Given the description of an element on the screen output the (x, y) to click on. 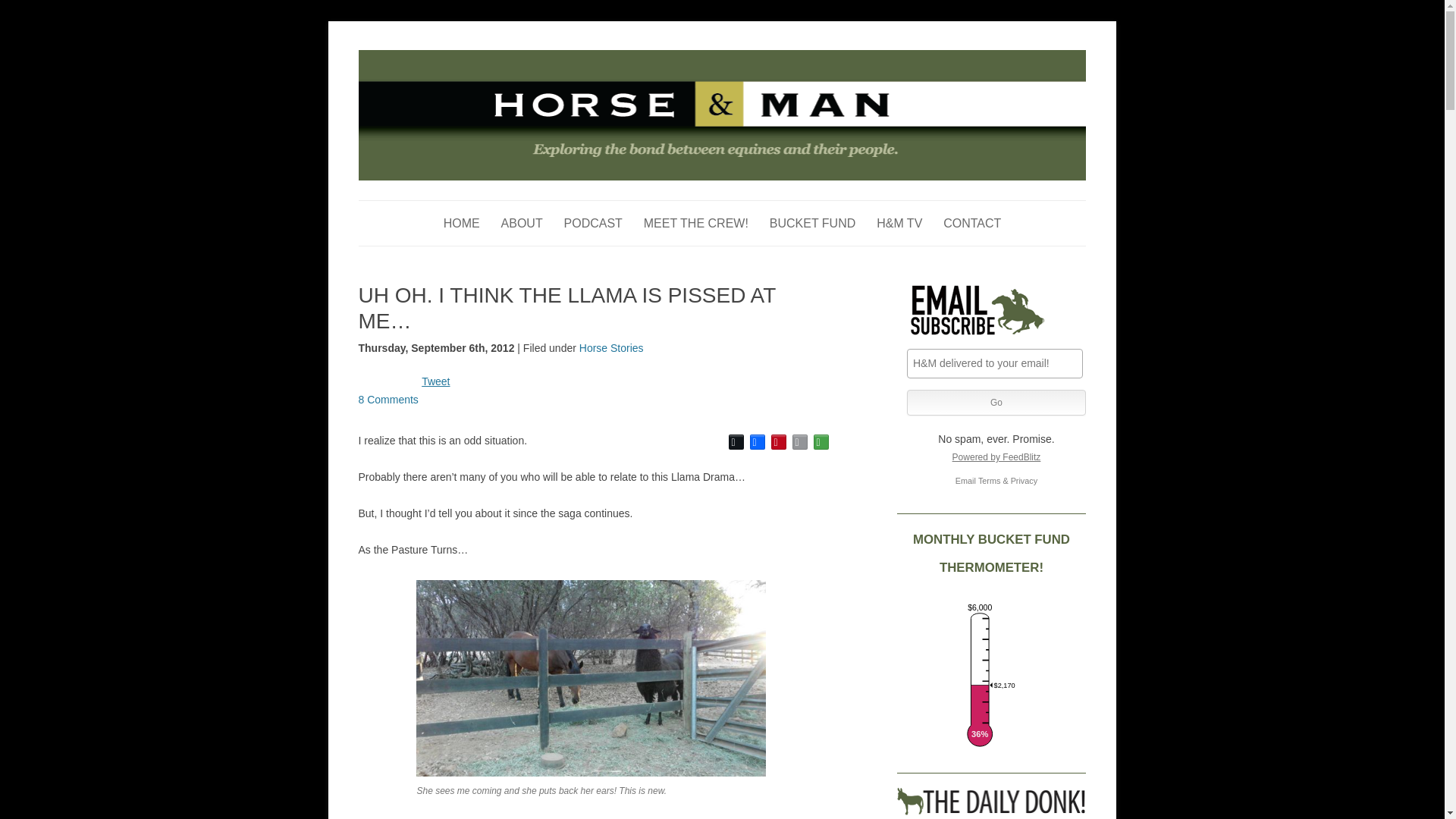
ABOUT (521, 222)
PODCAST (593, 222)
Skip to content (757, 204)
Horse Stories (611, 347)
Horse and Man (428, 57)
Meet the Horse and Man Crew (695, 222)
The Drop in the Bucket Fund Story (813, 222)
MEET THE CREW! (695, 222)
Horse and Man (428, 57)
BUCKET FUND (813, 222)
8 Comments (387, 399)
Pinterest (778, 441)
Tweet (435, 381)
Facebook (757, 441)
Email This (799, 441)
